Given the description of an element on the screen output the (x, y) to click on. 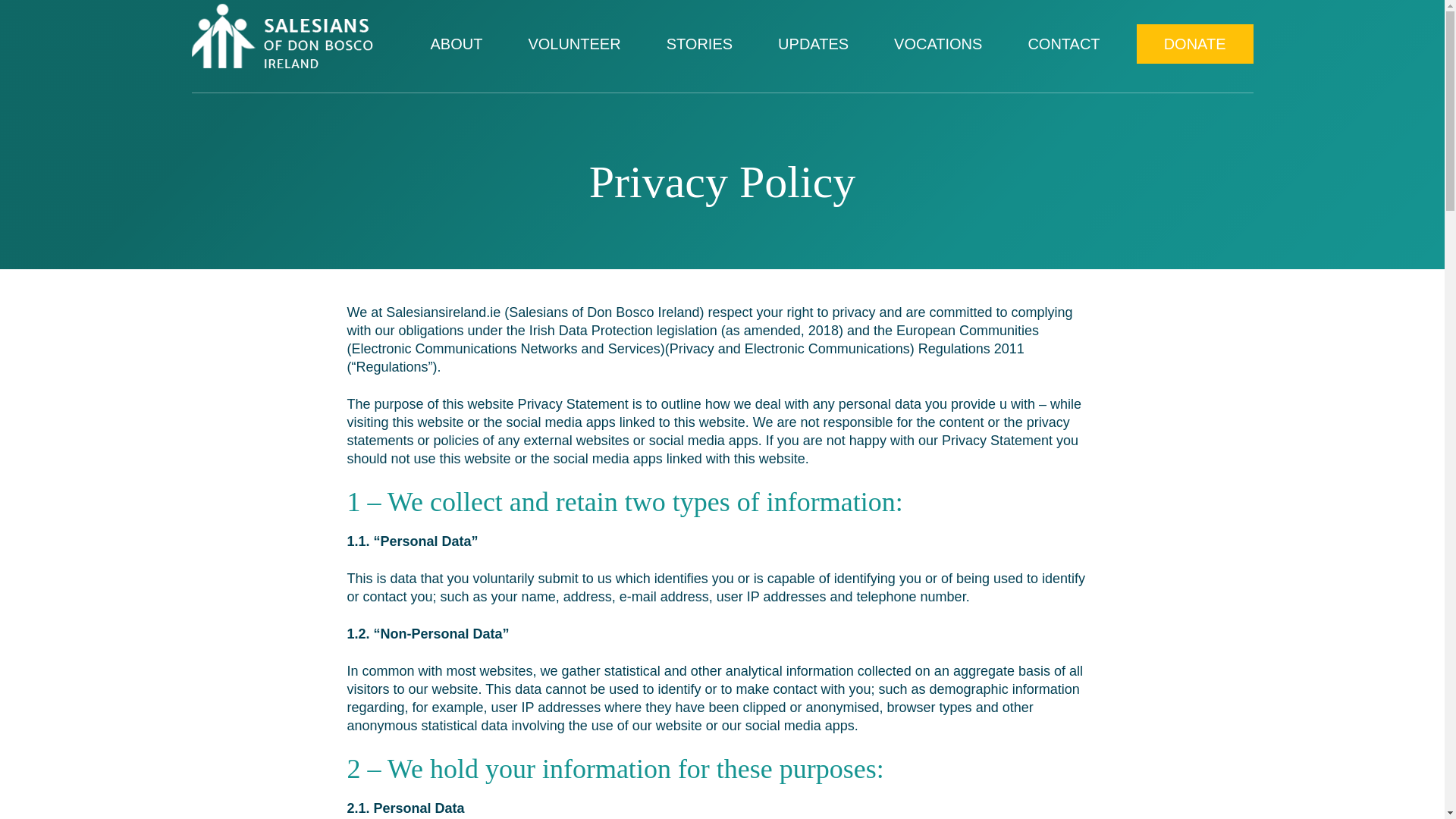
UPDATES (812, 43)
VOCATIONS (937, 43)
ABOUT (456, 43)
STORIES (699, 43)
DONATE (1195, 43)
CONTACT (1063, 43)
VOLUNTEER (574, 43)
